Given the description of an element on the screen output the (x, y) to click on. 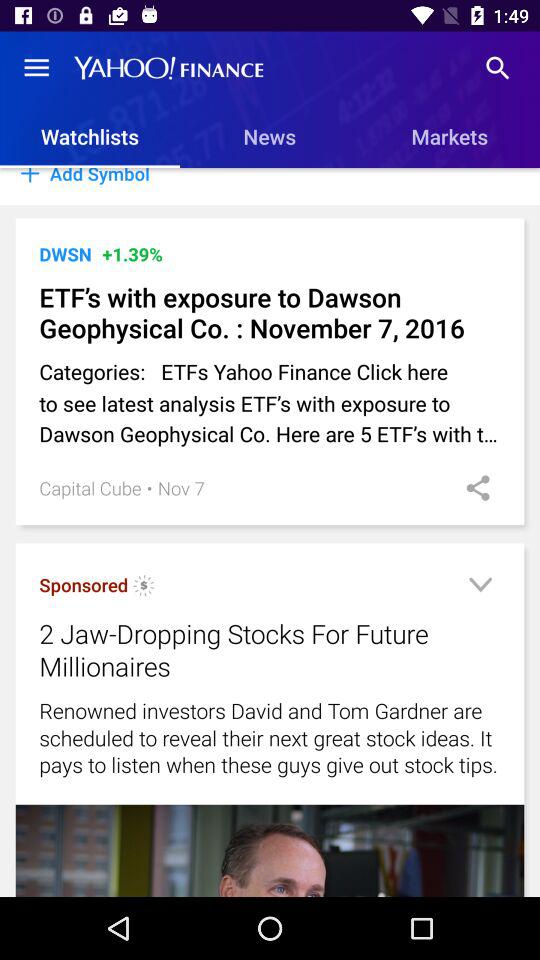
show more info (480, 587)
